Given the description of an element on the screen output the (x, y) to click on. 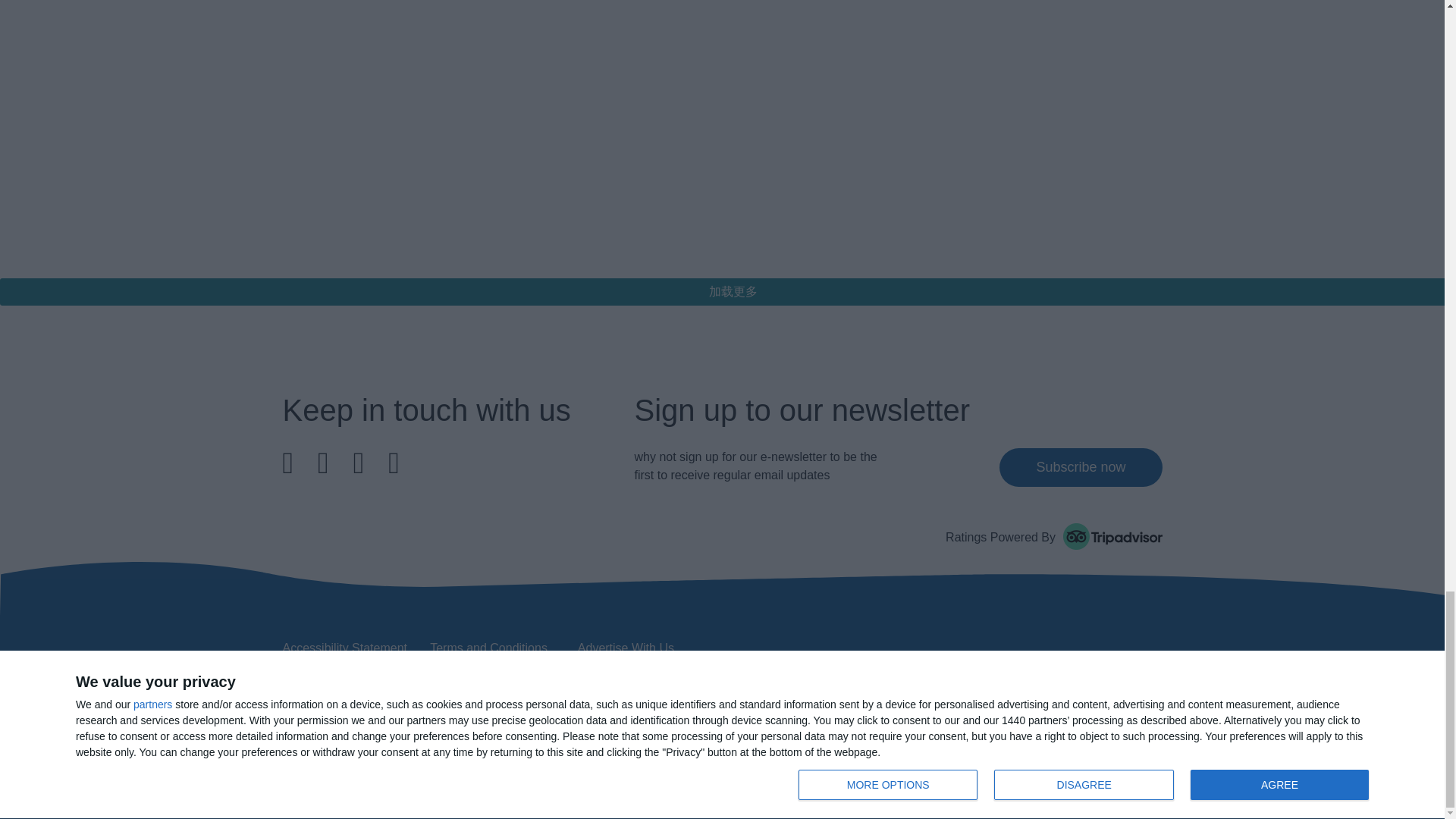
Trip Advisor (1111, 536)
Subscribe now (1079, 466)
